Given the description of an element on the screen output the (x, y) to click on. 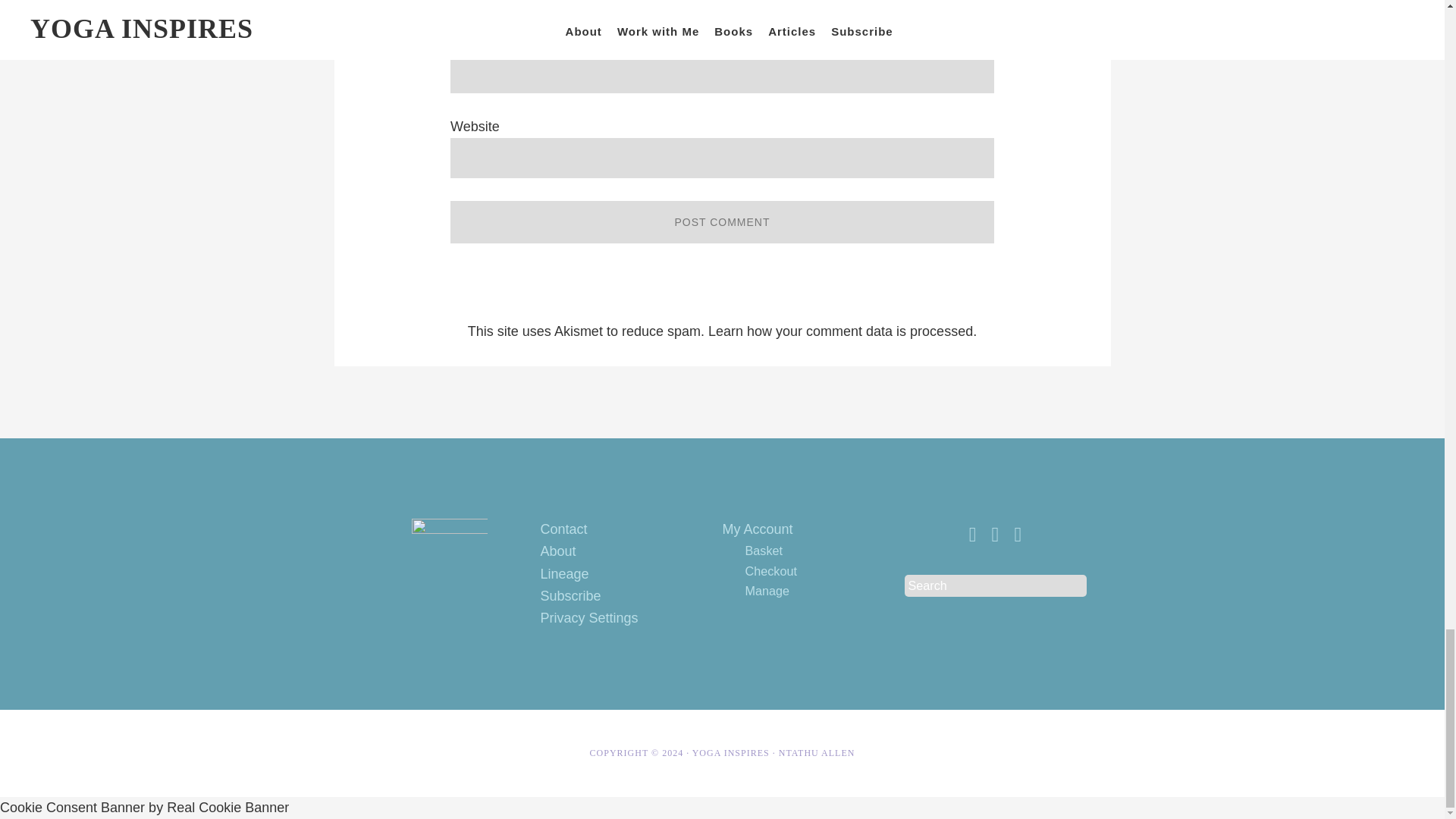
Lotus Flower Icon (448, 556)
Post Comment (721, 221)
